Given the description of an element on the screen output the (x, y) to click on. 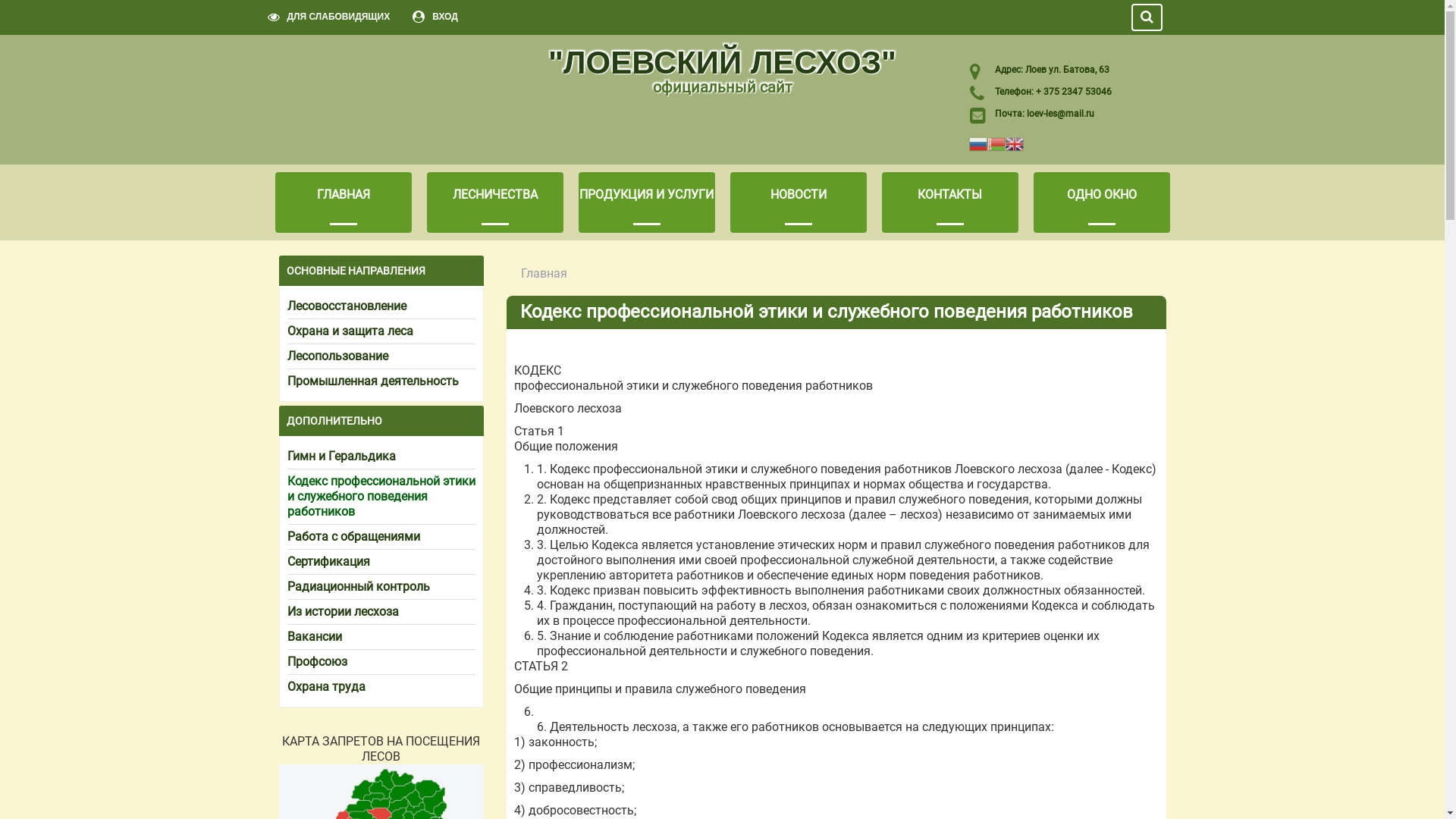
English Element type: hover (1014, 142)
loev-les@mail.ru Element type: text (1060, 113)
Russian Element type: hover (978, 142)
+ 375 2347 53046 Element type: text (1071, 91)
Belarusian Element type: hover (996, 142)
